Given the description of an element on the screen output the (x, y) to click on. 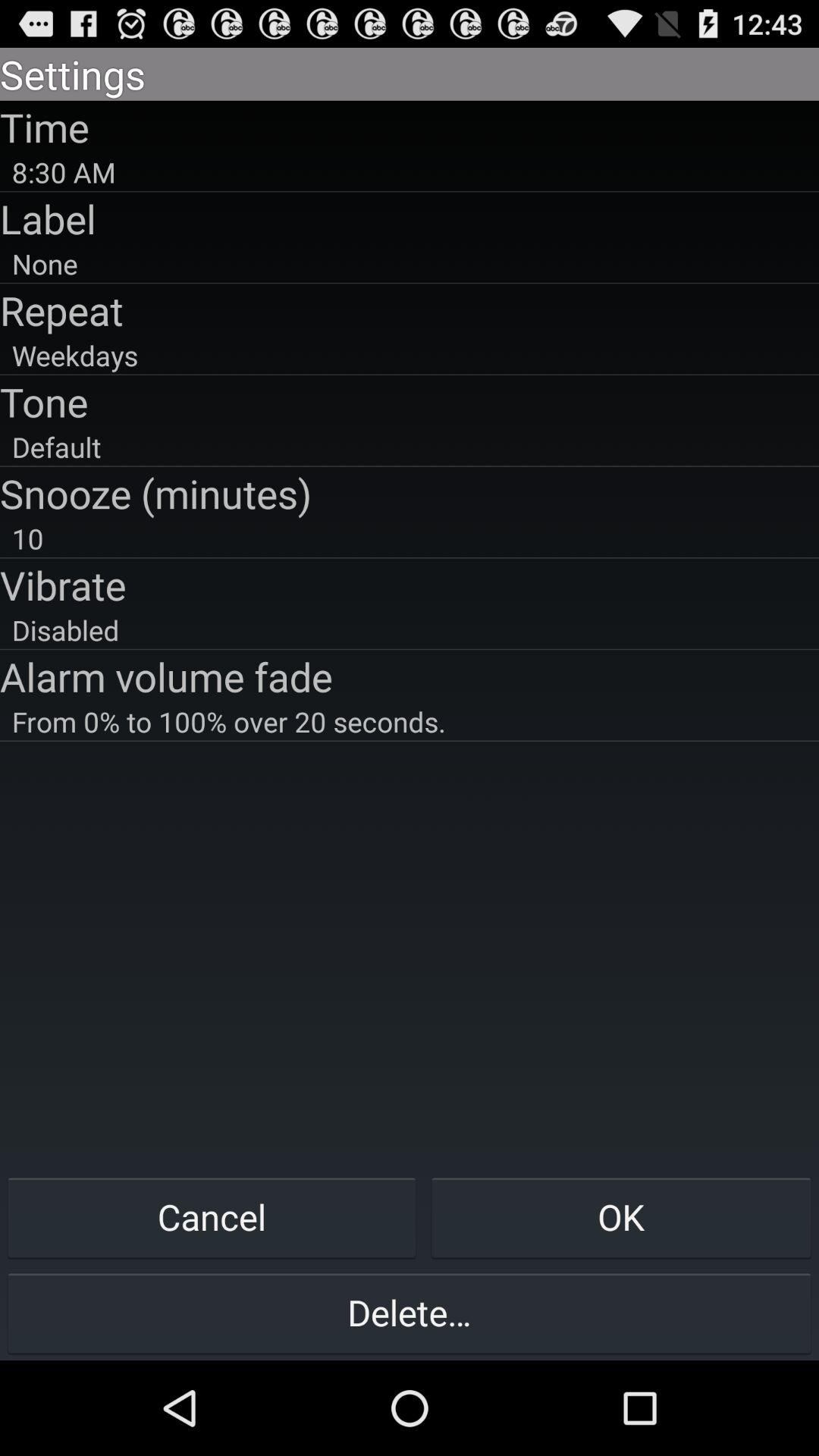
click the icon above the alarm volume fade (409, 629)
